Given the description of an element on the screen output the (x, y) to click on. 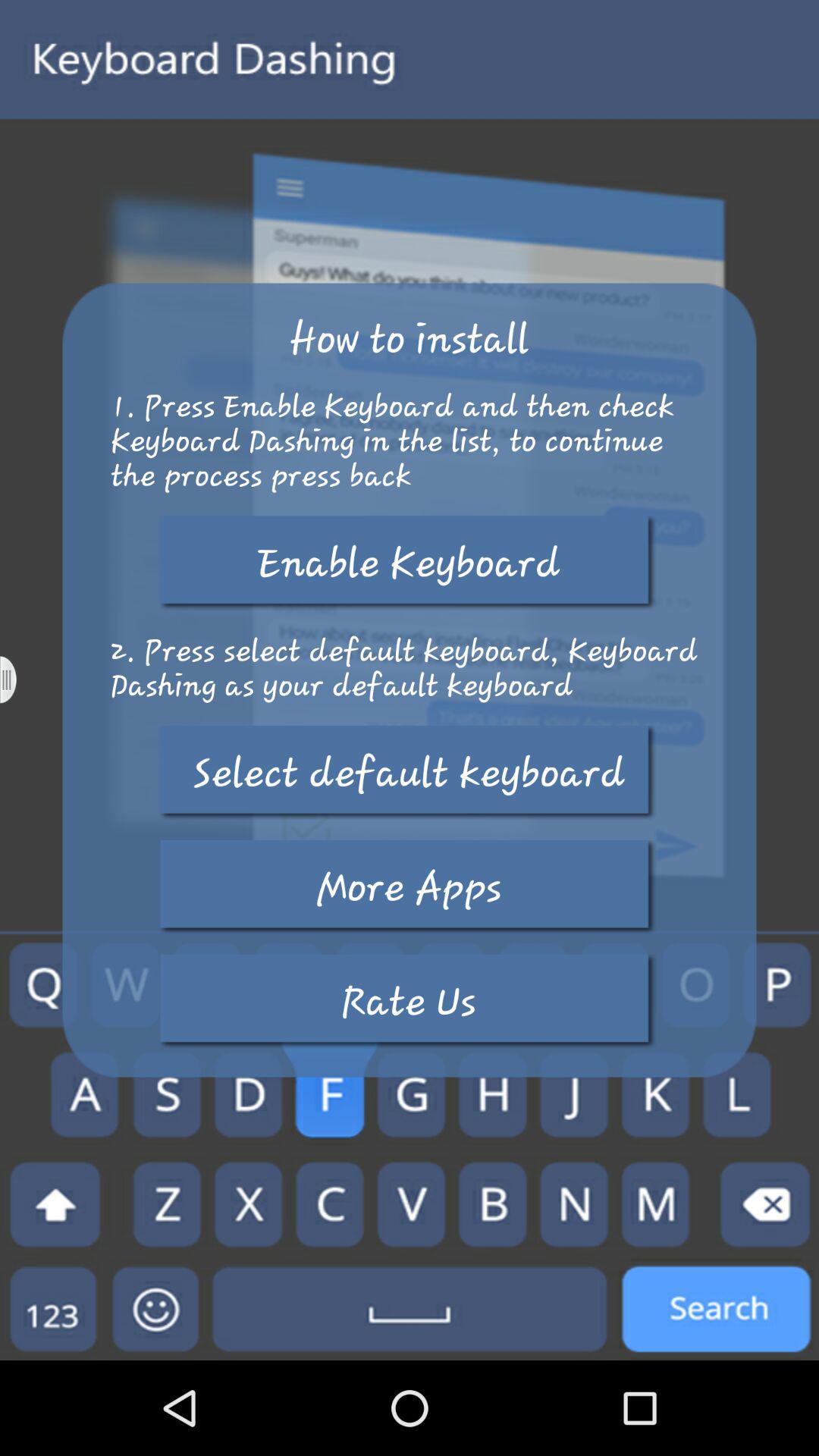
turn on icon at the bottom (409, 1001)
